Given the description of an element on the screen output the (x, y) to click on. 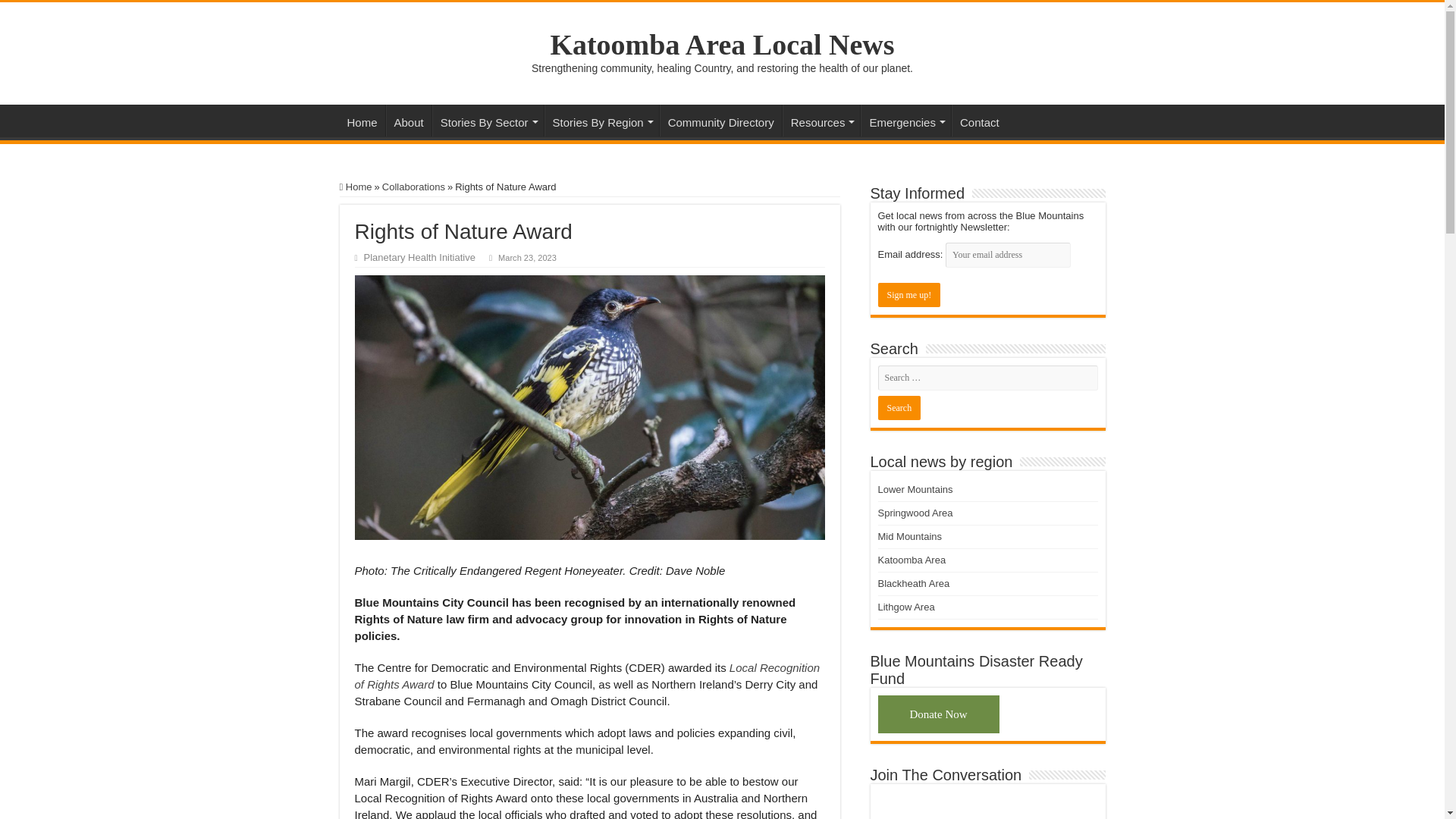
Search (899, 407)
Stories By Sector (487, 120)
Sign me up! (908, 294)
About (407, 120)
Support Us (937, 714)
Katoomba Area Local News (721, 44)
Search (899, 407)
Home (362, 120)
